Given the description of an element on the screen output the (x, y) to click on. 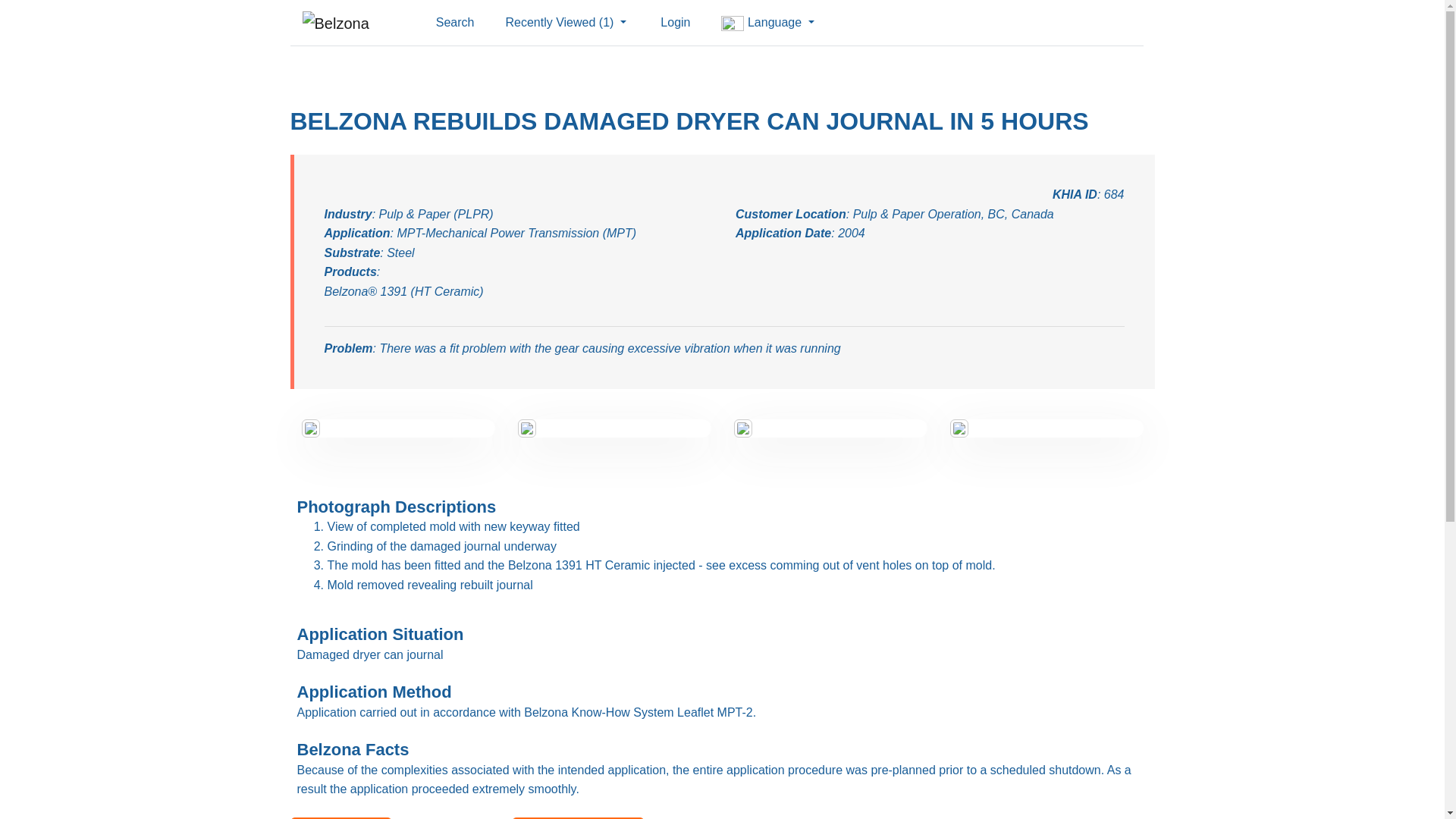
View PDF (340, 818)
 Login (673, 22)
Language (766, 22)
Search (454, 22)
Login (673, 22)
Download PDF (578, 818)
